Given the description of an element on the screen output the (x, y) to click on. 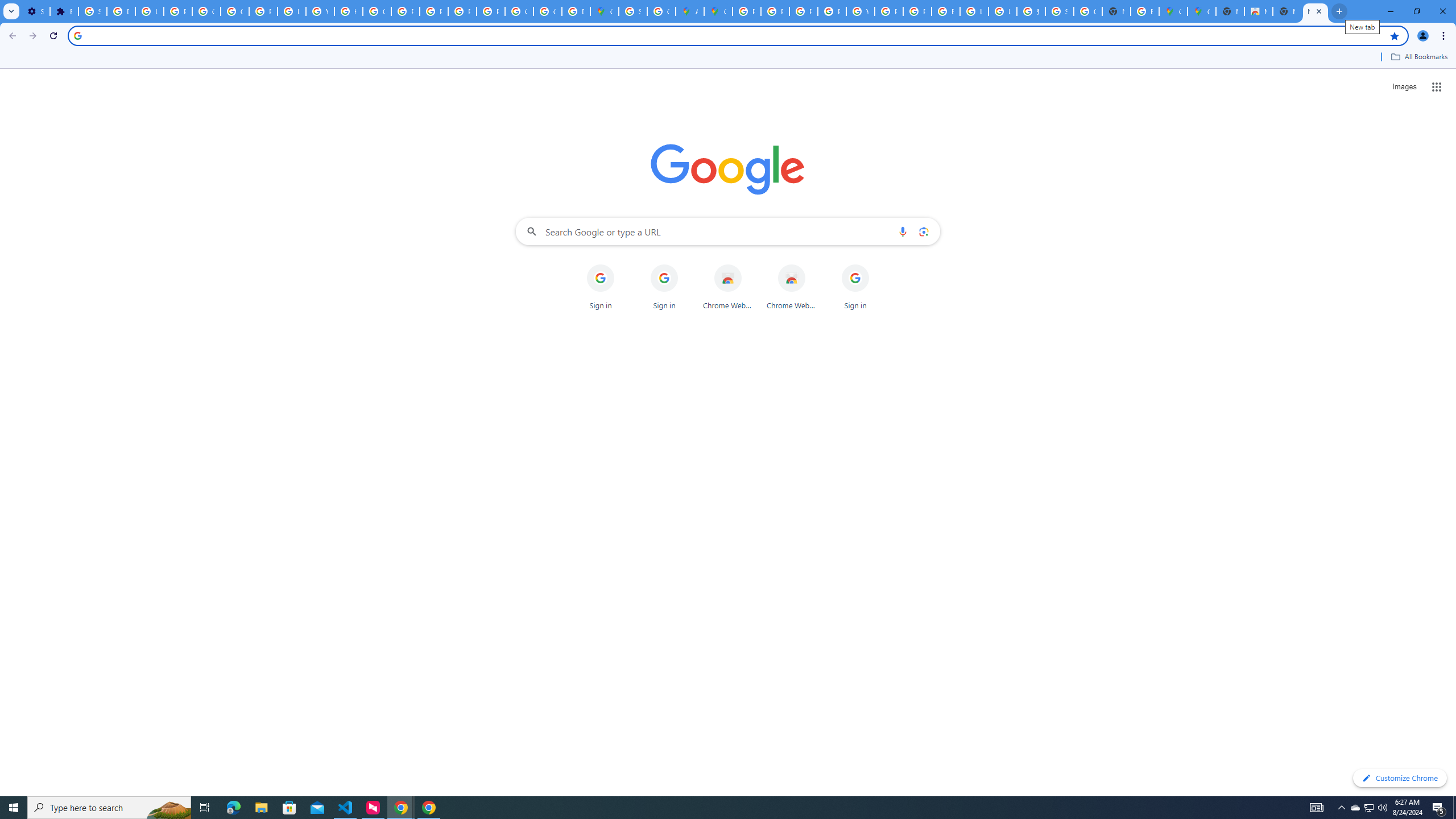
Google Maps (718, 11)
Explore new street-level details - Google Maps Help (1144, 11)
Google Account Help (206, 11)
